Given the description of an element on the screen output the (x, y) to click on. 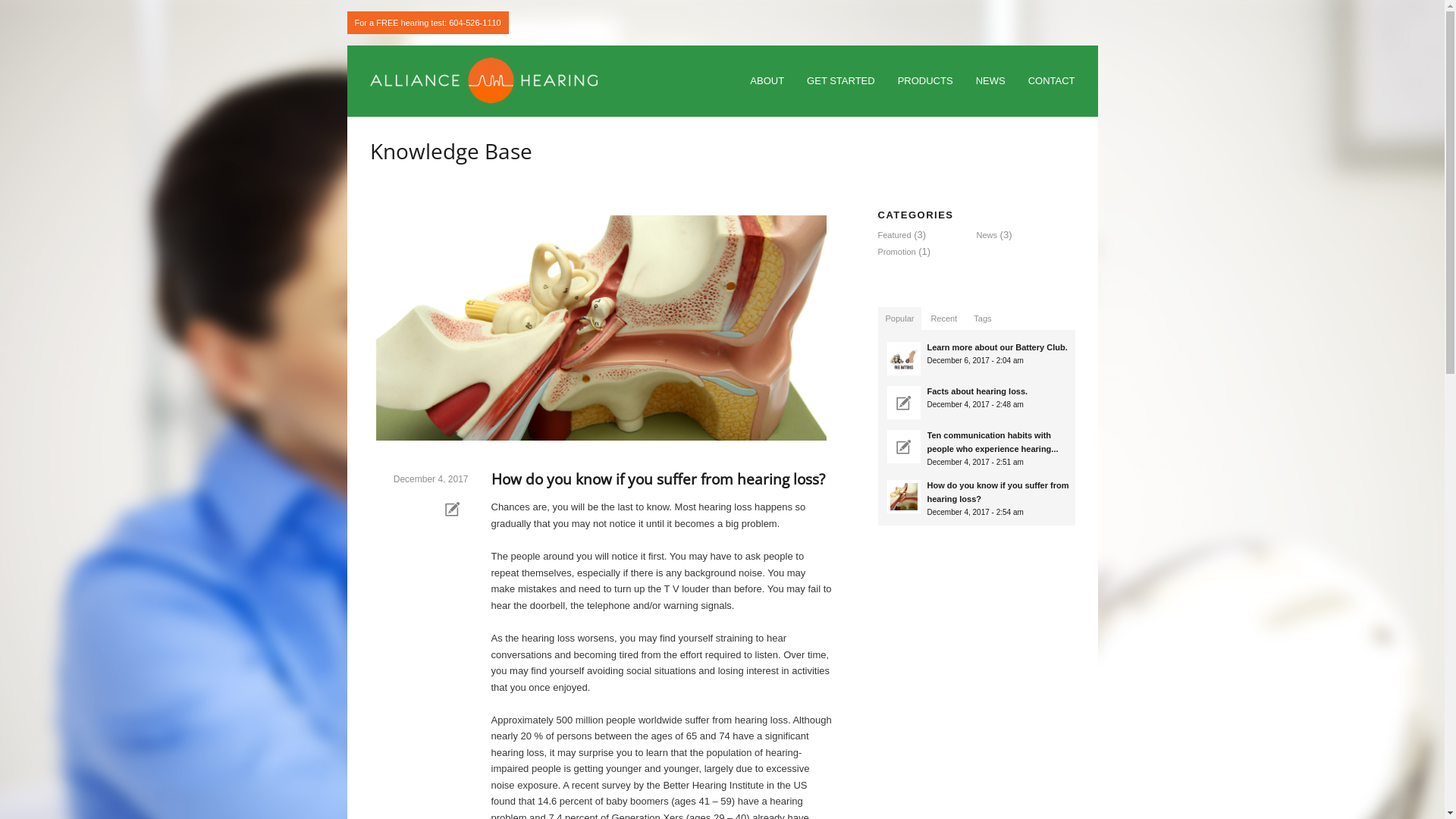
hearingloss Element type: hover (601, 327)
NEWS Element type: text (990, 81)
News Element type: text (986, 234)
CONTACT Element type: text (1051, 81)
Featured Element type: text (894, 234)
PRODUCTS Element type: text (925, 81)
Facts about hearing loss.
December 4, 2017 - 2:48 am Element type: text (979, 400)
Promotion Element type: text (897, 251)
GET STARTED Element type: text (840, 81)
free-batteries Element type: hover (903, 358)
Knowledge Base Element type: text (451, 150)
How do you know if you suffer from hearing loss? Element type: text (658, 479)
ABOUT Element type: text (766, 81)
hearingloss Element type: hover (903, 496)
